Given the description of an element on the screen output the (x, y) to click on. 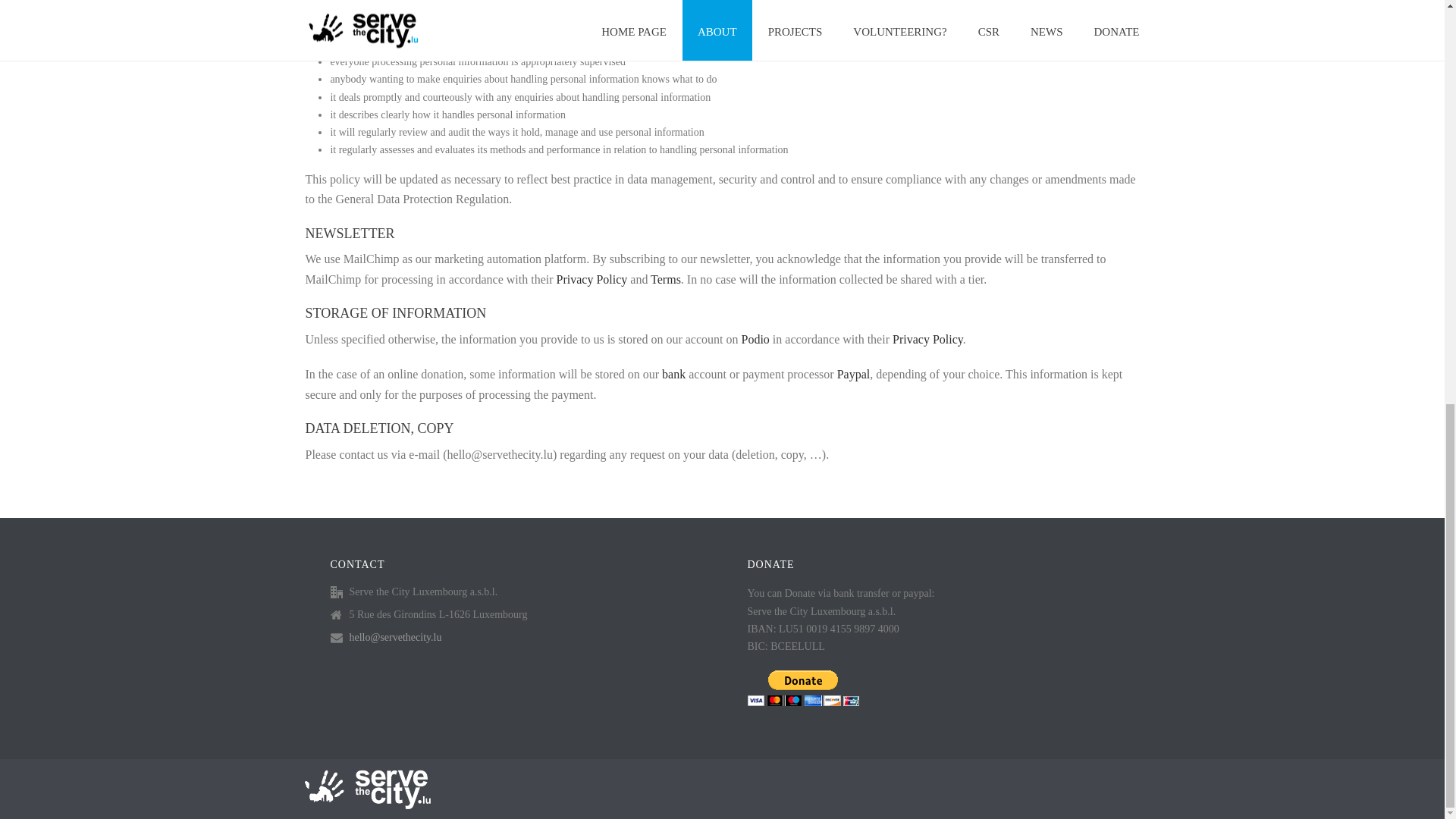
Privacy Policy (927, 338)
bank (673, 373)
Privacy Policy (591, 278)
Terms (665, 278)
Paypal (853, 373)
Podio (755, 338)
Serve The City Luxembourg (365, 787)
